Given the description of an element on the screen output the (x, y) to click on. 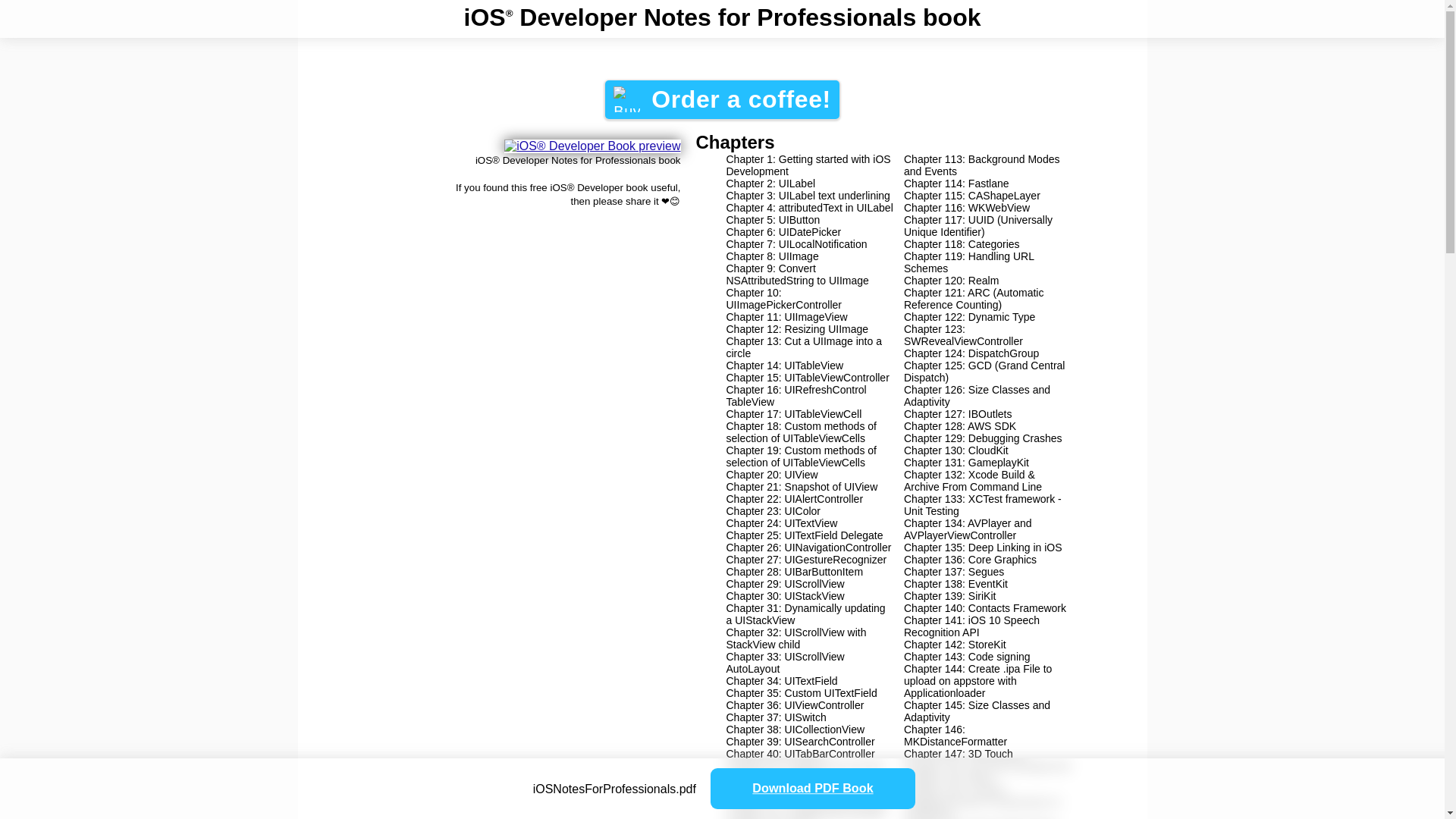
Download PDF Book (823, 791)
Order a coffee! (722, 99)
